Given the description of an element on the screen output the (x, y) to click on. 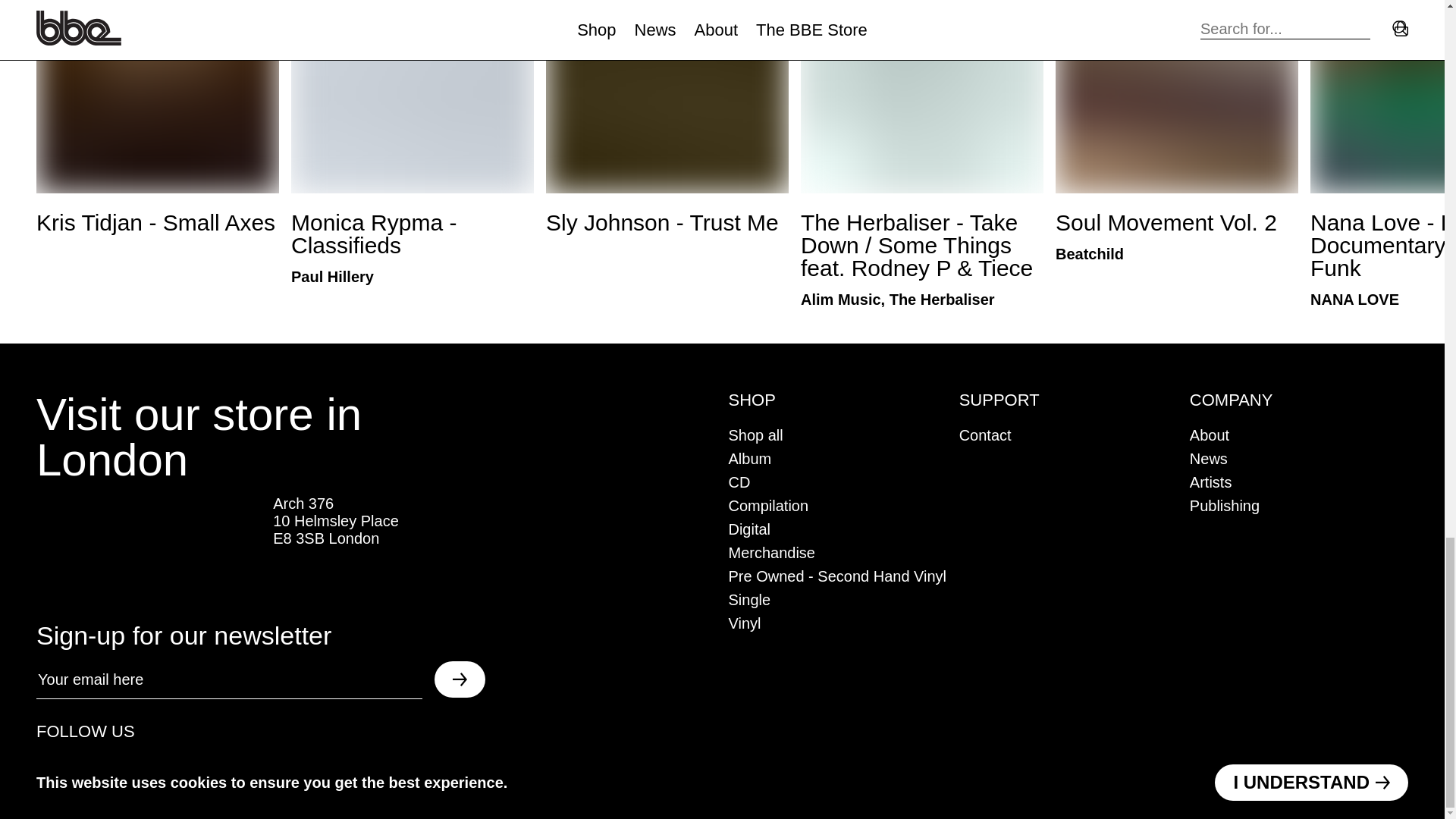
CD (738, 482)
Merchandise (771, 552)
Digital (749, 528)
Sly Johnson - Trust Me (667, 117)
Single (749, 599)
Compilation (768, 505)
The BBE Store in GQ Magazine (148, 546)
Pre Owned - Second Hand Vinyl (837, 576)
